Given the description of an element on the screen output the (x, y) to click on. 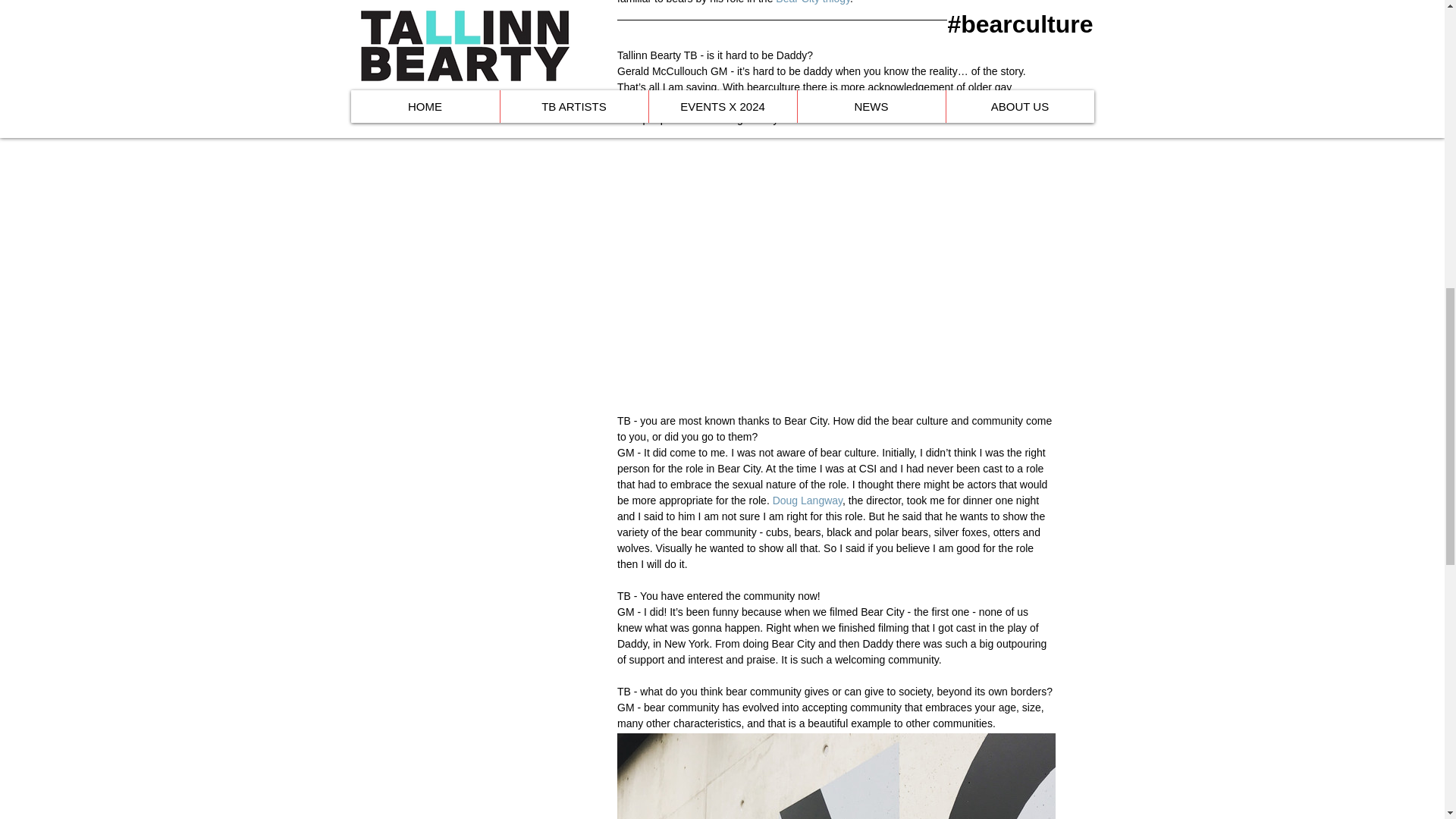
Doug Langway (806, 500)
Bear City trilogy (813, 2)
